Given the description of an element on the screen output the (x, y) to click on. 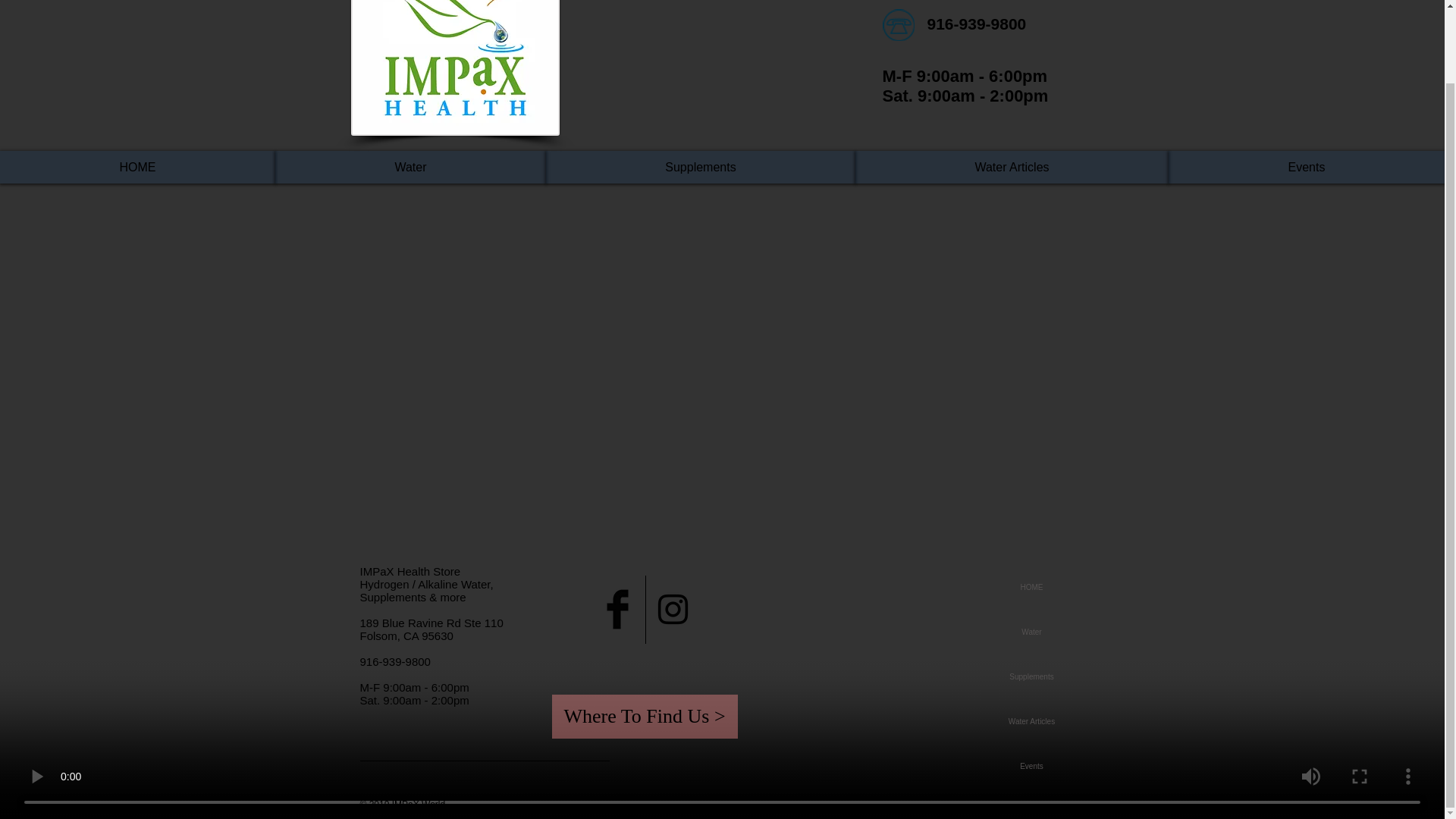
Events (1031, 765)
HOME (1031, 587)
Water Articles (1031, 721)
Water (410, 166)
Supplements (1031, 676)
HOME (137, 166)
Supplements (701, 166)
Water Articles (1012, 166)
Water (1031, 631)
Google Maps (861, 682)
